Given the description of an element on the screen output the (x, y) to click on. 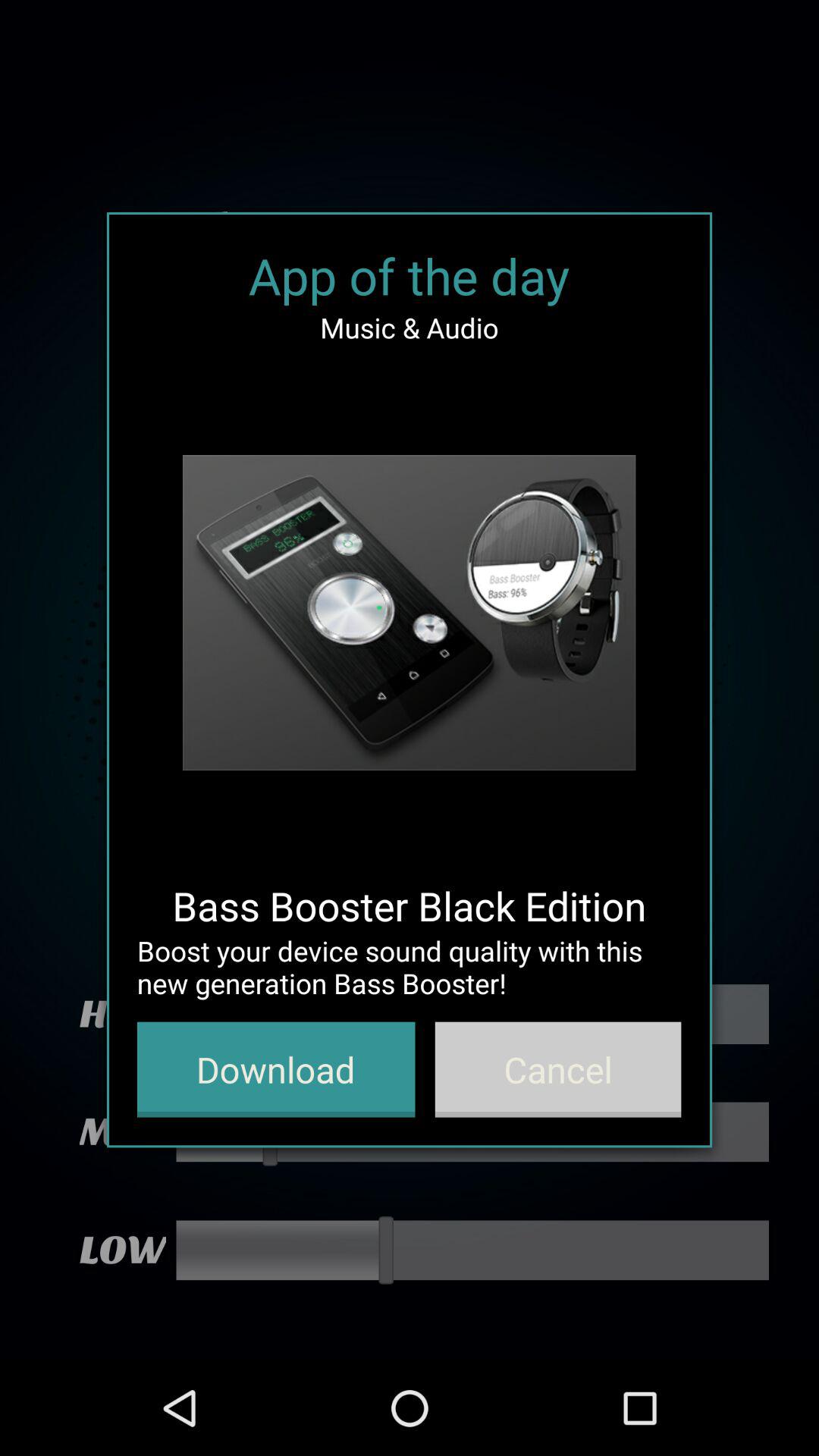
open the item above bass booster black item (408, 612)
